Given the description of an element on the screen output the (x, y) to click on. 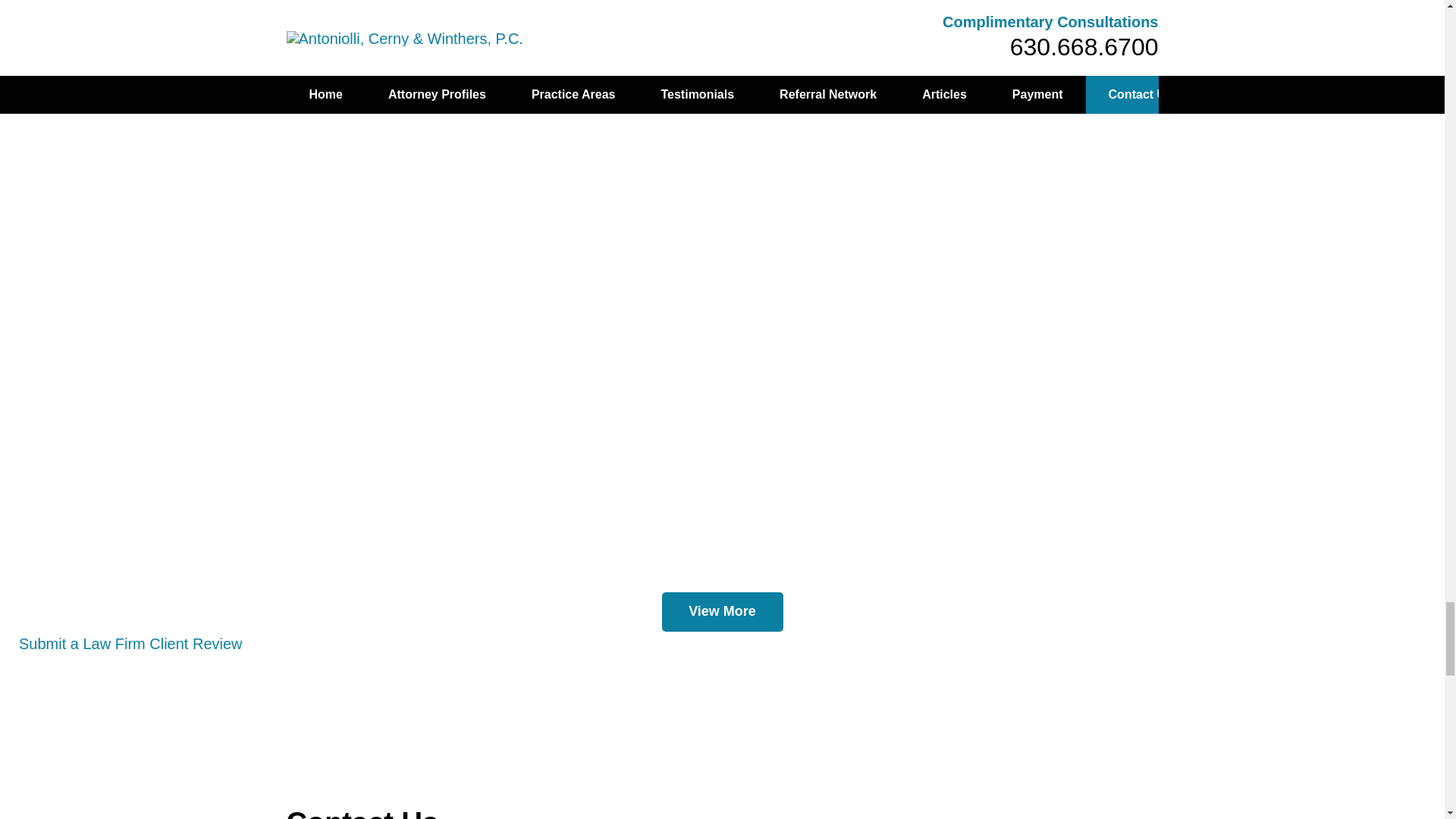
View More (722, 611)
Submit a Law Firm Client Review (130, 643)
